Given the description of an element on the screen output the (x, y) to click on. 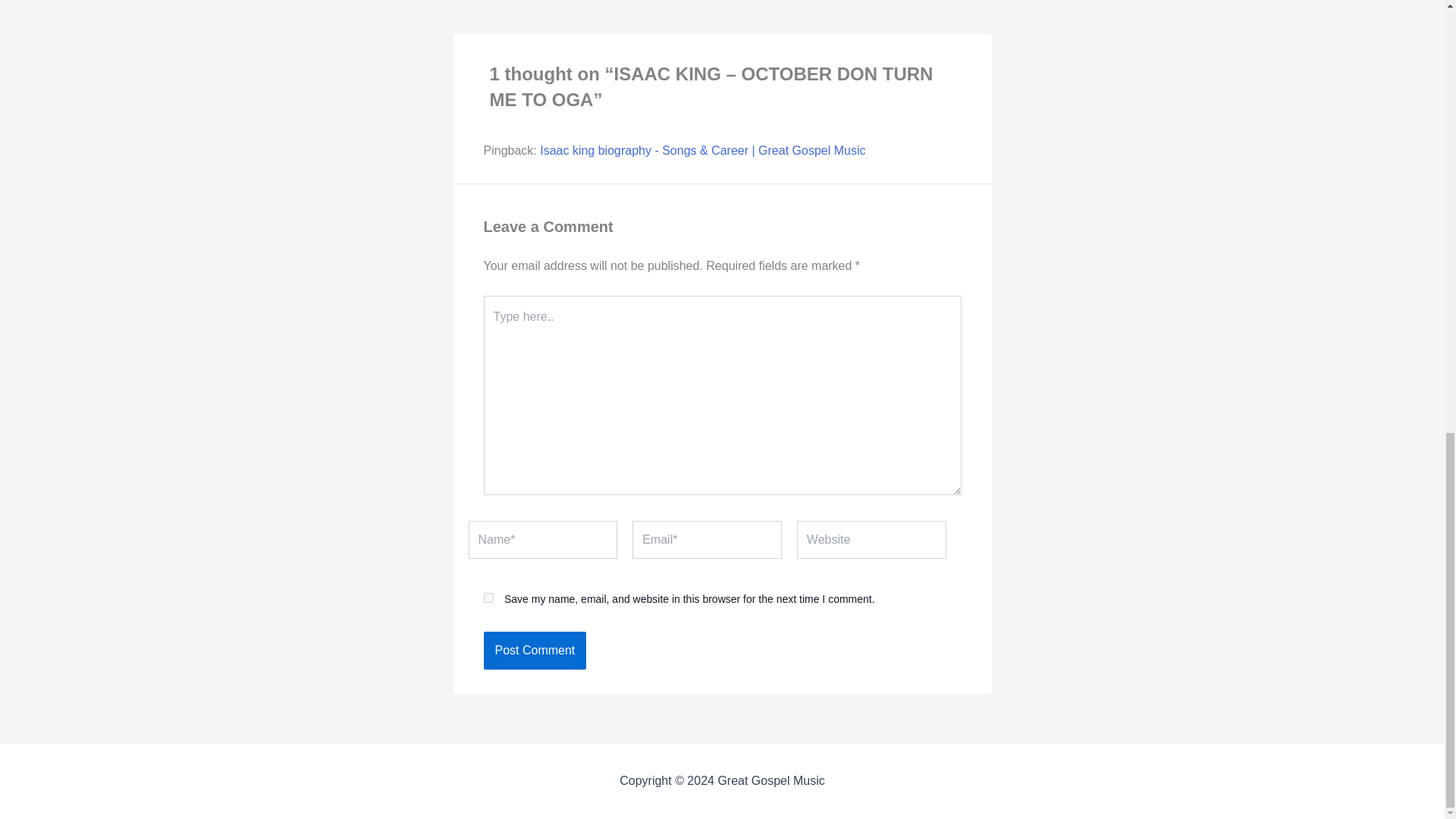
Post Comment (534, 650)
MY DADDY by Saviour G (882, 1)
Post Comment (534, 650)
yes (882, 1)
